Given the description of an element on the screen output the (x, y) to click on. 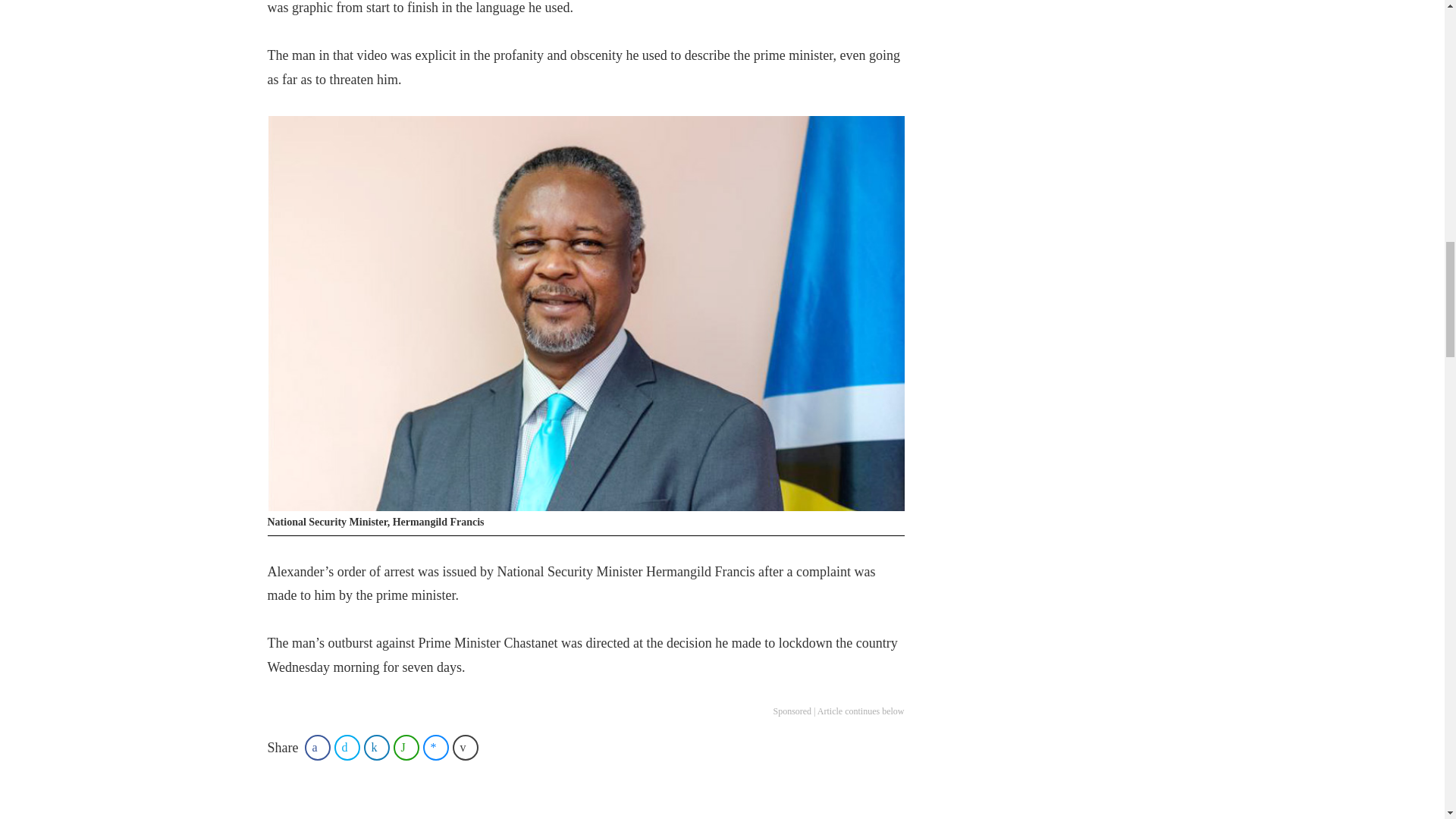
Share on LinkedIn (377, 747)
Share on Email (465, 747)
Share on WhatsApp (406, 747)
Share on Twitter (346, 747)
Share on Facebook Messenger (435, 747)
Share on Facebook (317, 747)
